Given the description of an element on the screen output the (x, y) to click on. 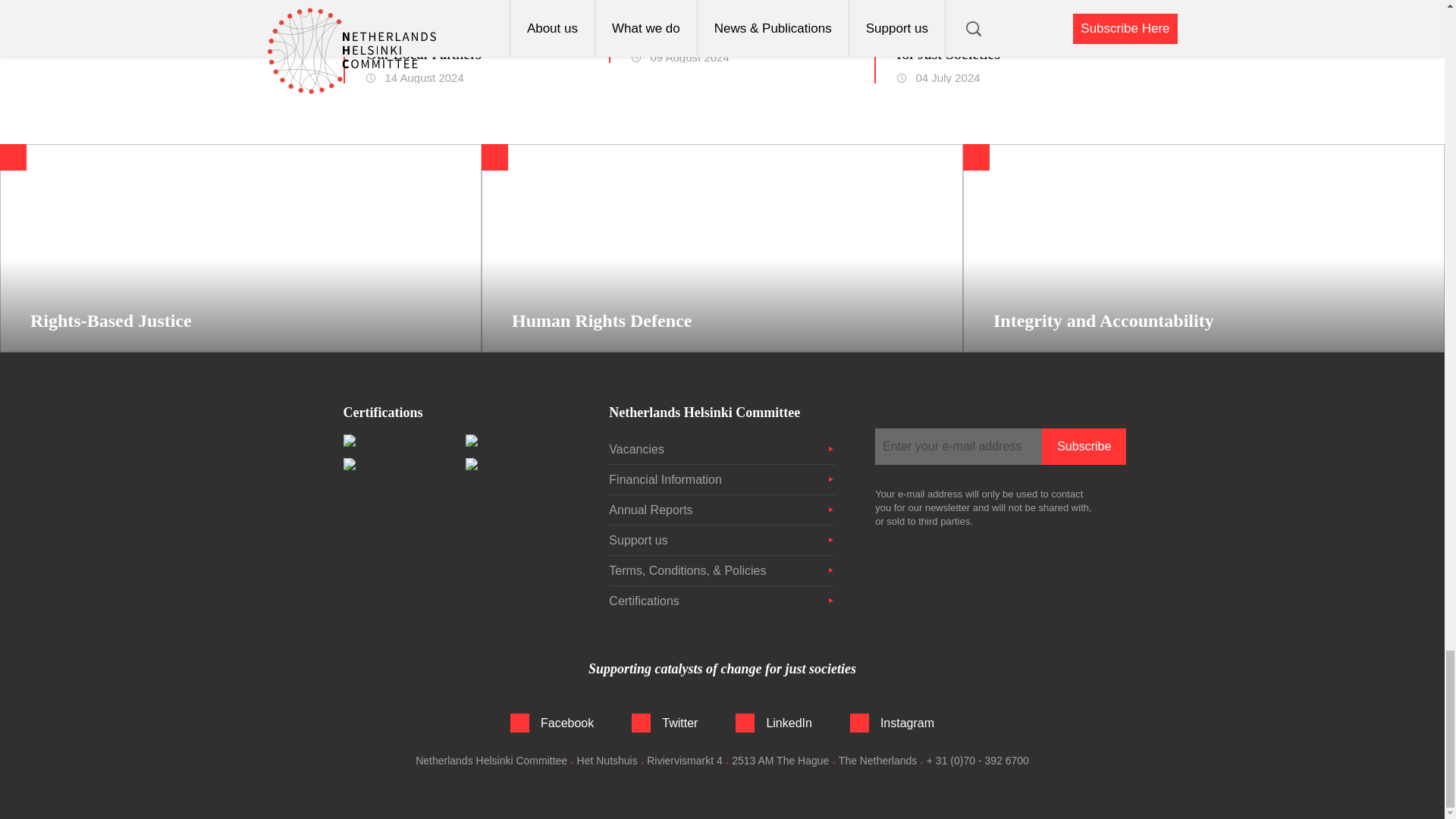
Human Rights Defence (721, 248)
Rights-Based Justice (240, 248)
EPTA II: Recent Developments and Future Directions (732, 23)
Subscribe (1083, 446)
